Given the description of an element on the screen output the (x, y) to click on. 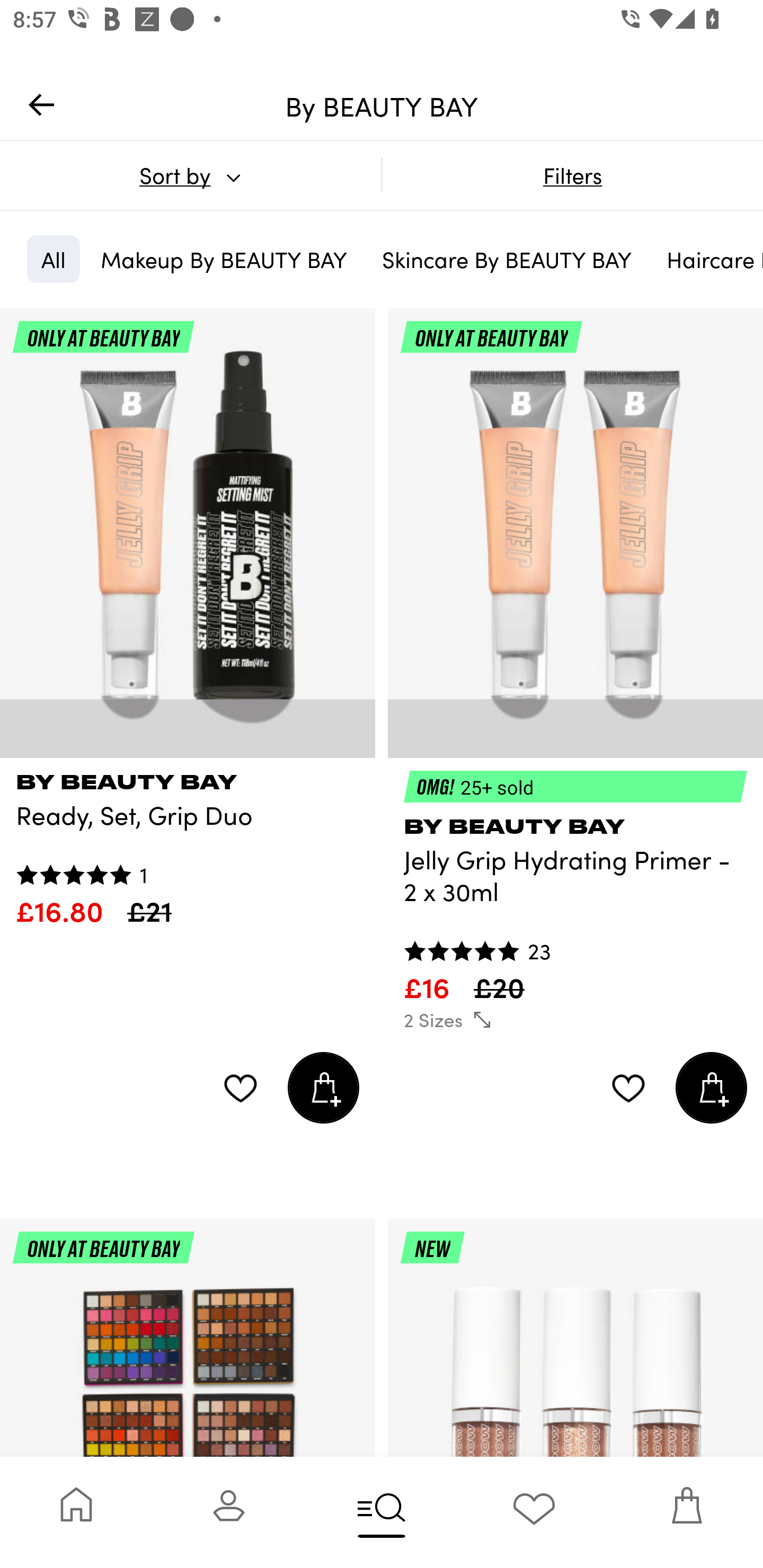
Sort by (190, 174)
Filters (572, 174)
All (53, 258)
Makeup By BEAUTY BAY (223, 258)
Skincare By BEAUTY BAY (506, 258)
Haircare By BEAUTY BAY (707, 258)
BY BEAUTY BAY Ready, Set, Grip Duo 1 £16.80 £21 (187, 843)
